Given the description of an element on the screen output the (x, y) to click on. 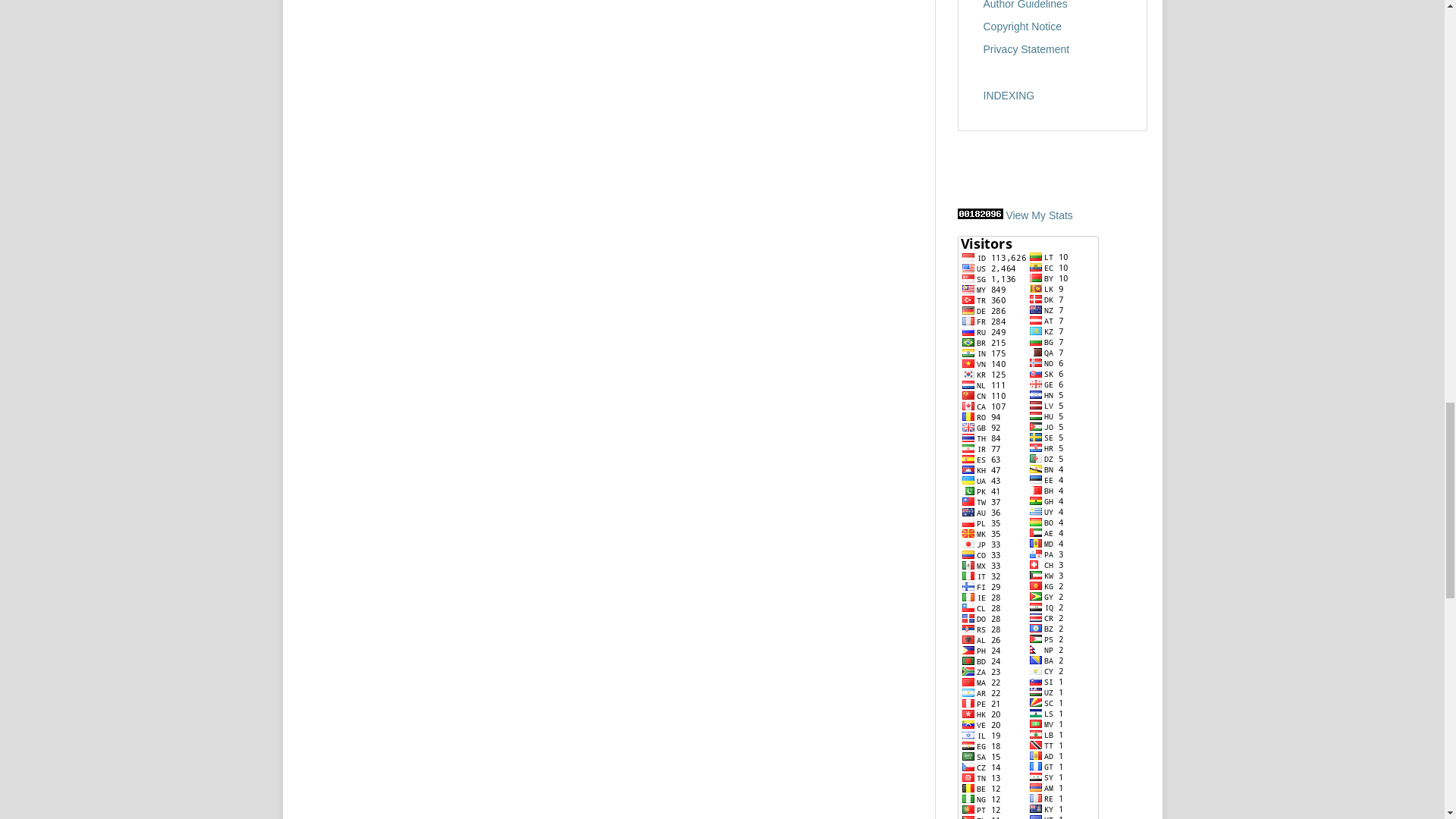
Author Guidelines (1024, 4)
Web Analytics (979, 215)
